Given the description of an element on the screen output the (x, y) to click on. 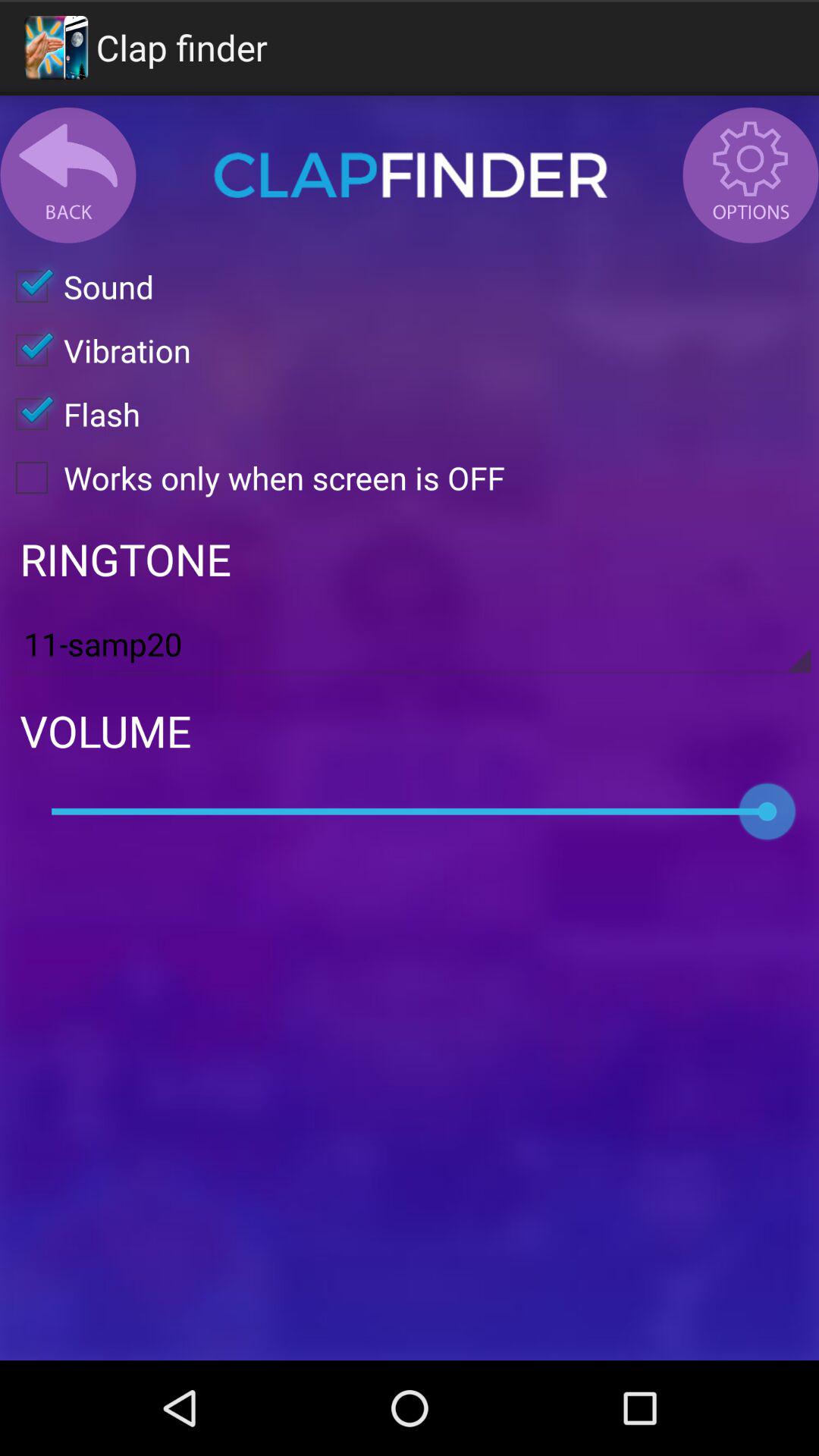
choose flash checkbox (70, 413)
